Given the description of an element on the screen output the (x, y) to click on. 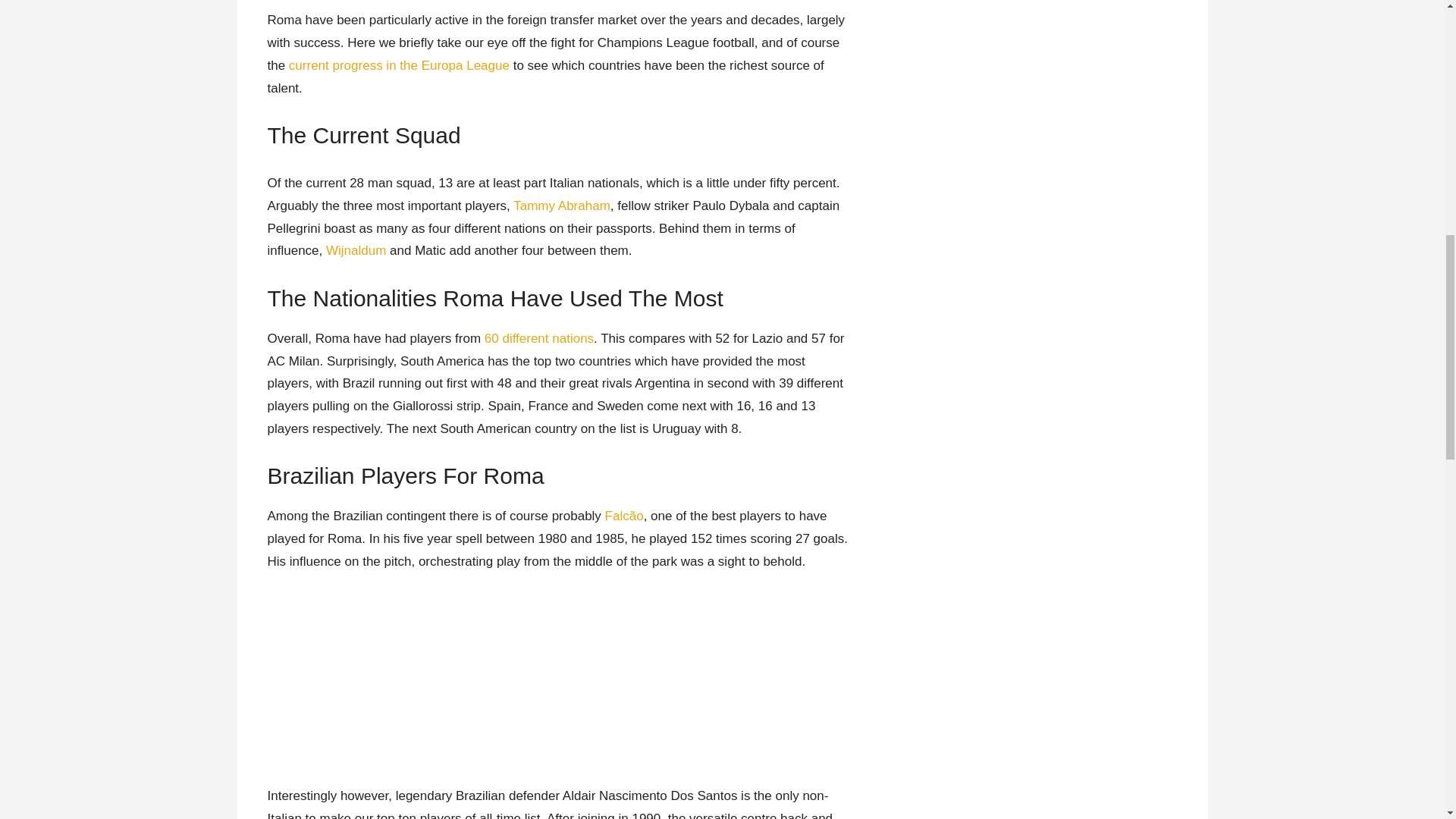
60 different nations (539, 338)
current progress in the Europa League (398, 65)
Tammy Abraham (561, 205)
Wijnaldum (355, 250)
